Given the description of an element on the screen output the (x, y) to click on. 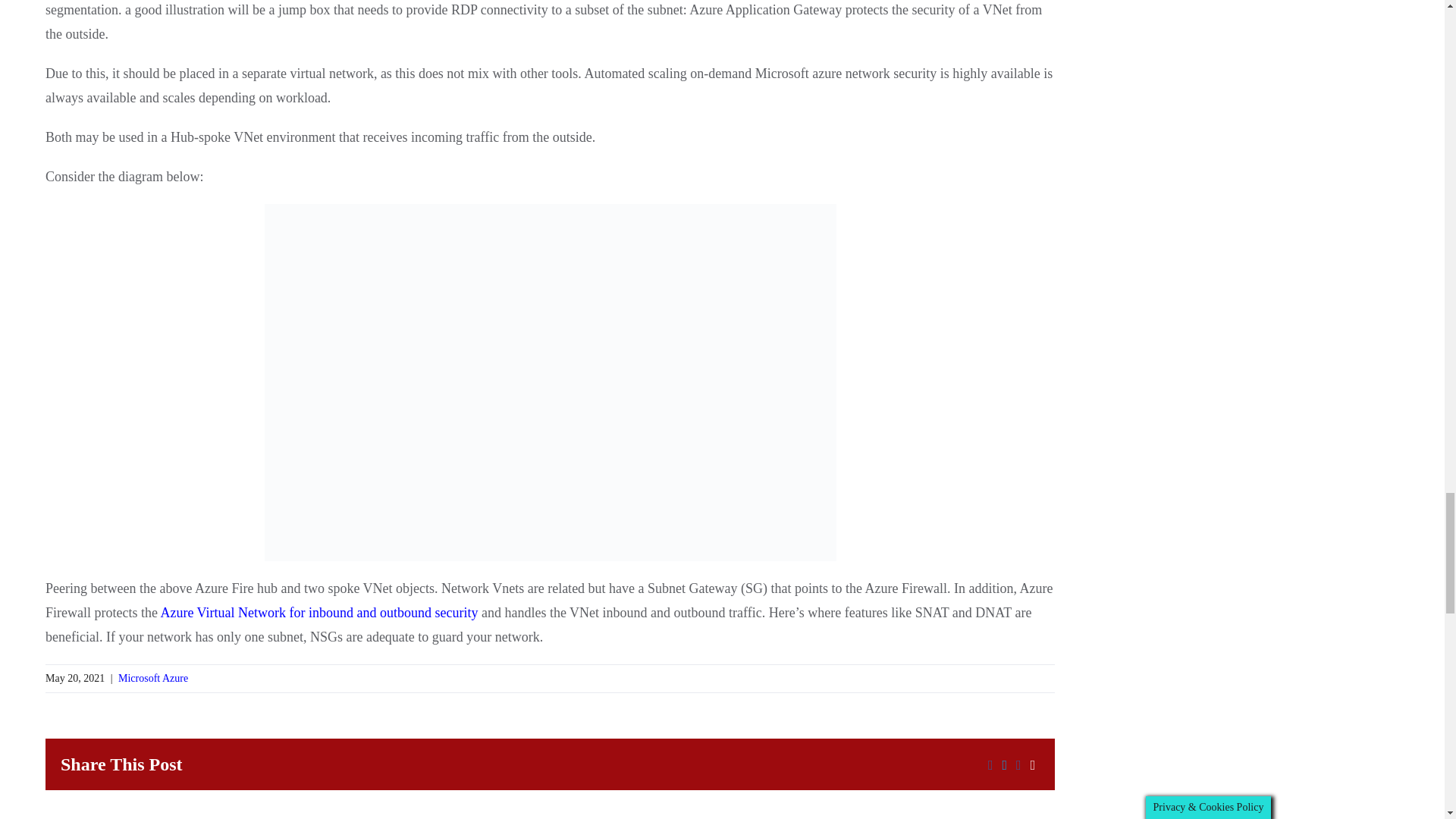
Email (1033, 766)
Twitter (1004, 766)
Facebook (990, 766)
Linkedin (1018, 766)
